Given the description of an element on the screen output the (x, y) to click on. 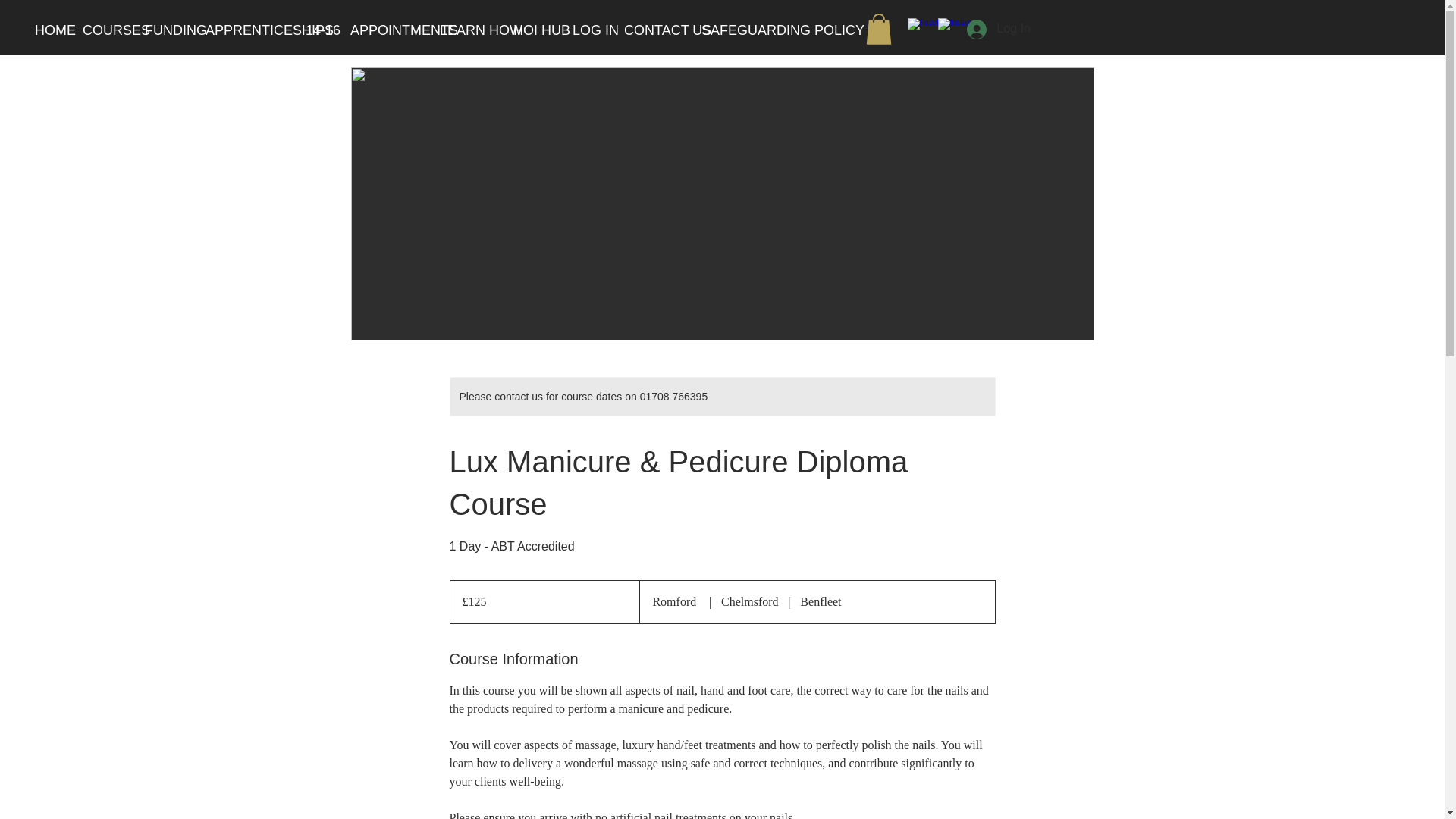
SAFEGUARDING POLICY (751, 30)
HOME (47, 30)
CONTACT US (651, 30)
14-16 (316, 30)
COURSES (102, 30)
APPRENTICESHIPS (243, 30)
Log In (998, 29)
HOI HUB (531, 30)
LEARN HOW (465, 30)
APPOINTMENTS (383, 30)
